Given the description of an element on the screen output the (x, y) to click on. 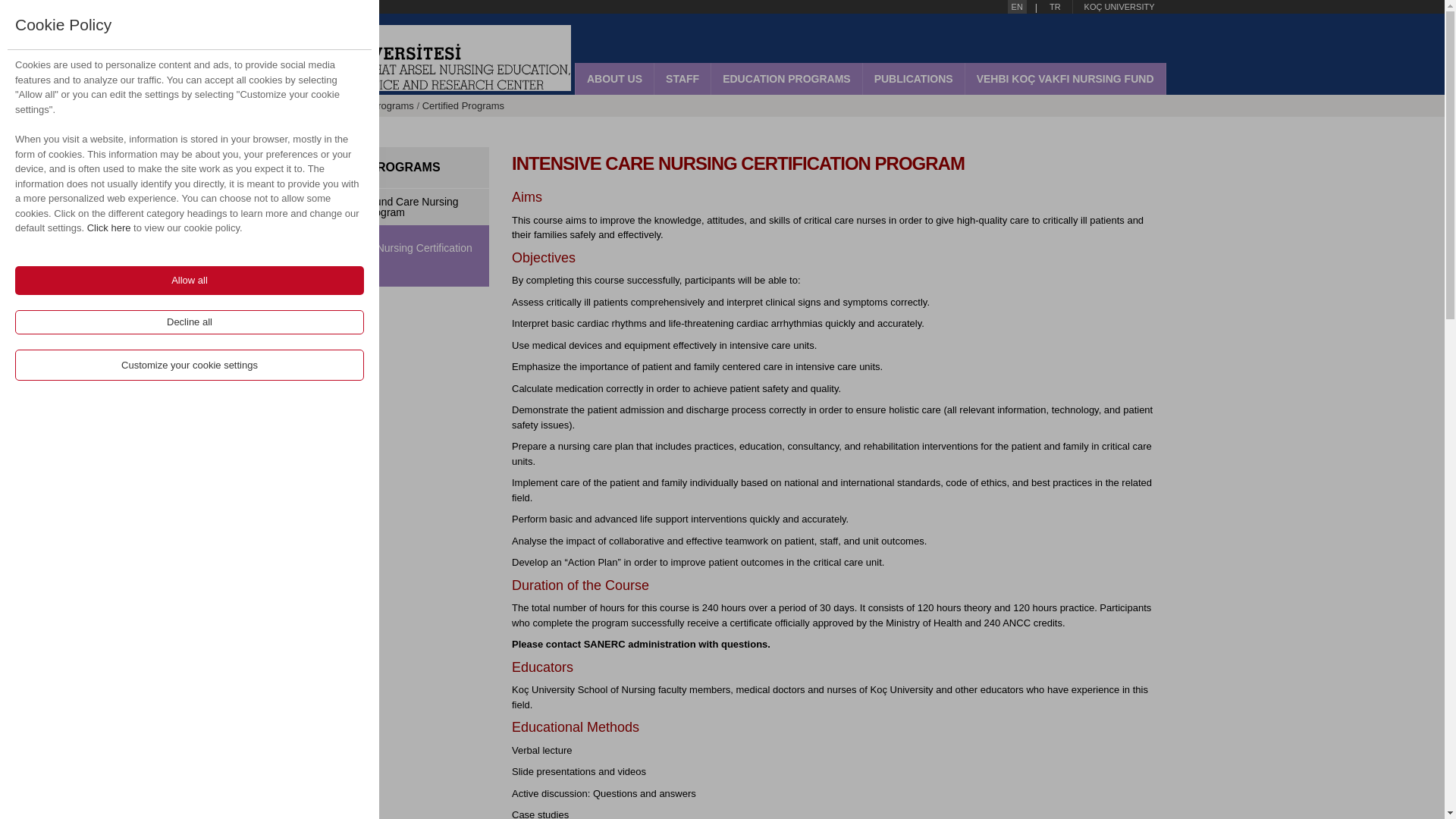
Stoma and Wound Care Nursing Certification Program (389, 207)
TR (1054, 6)
STAFF (681, 79)
Intensive Care Nursing Certification Program (393, 253)
Home (302, 105)
EDUCATION PROGRAMS (785, 79)
ABOUT US (614, 79)
Education Programs (368, 105)
EN (1016, 6)
PUBLICATIONS (912, 79)
